Given the description of an element on the screen output the (x, y) to click on. 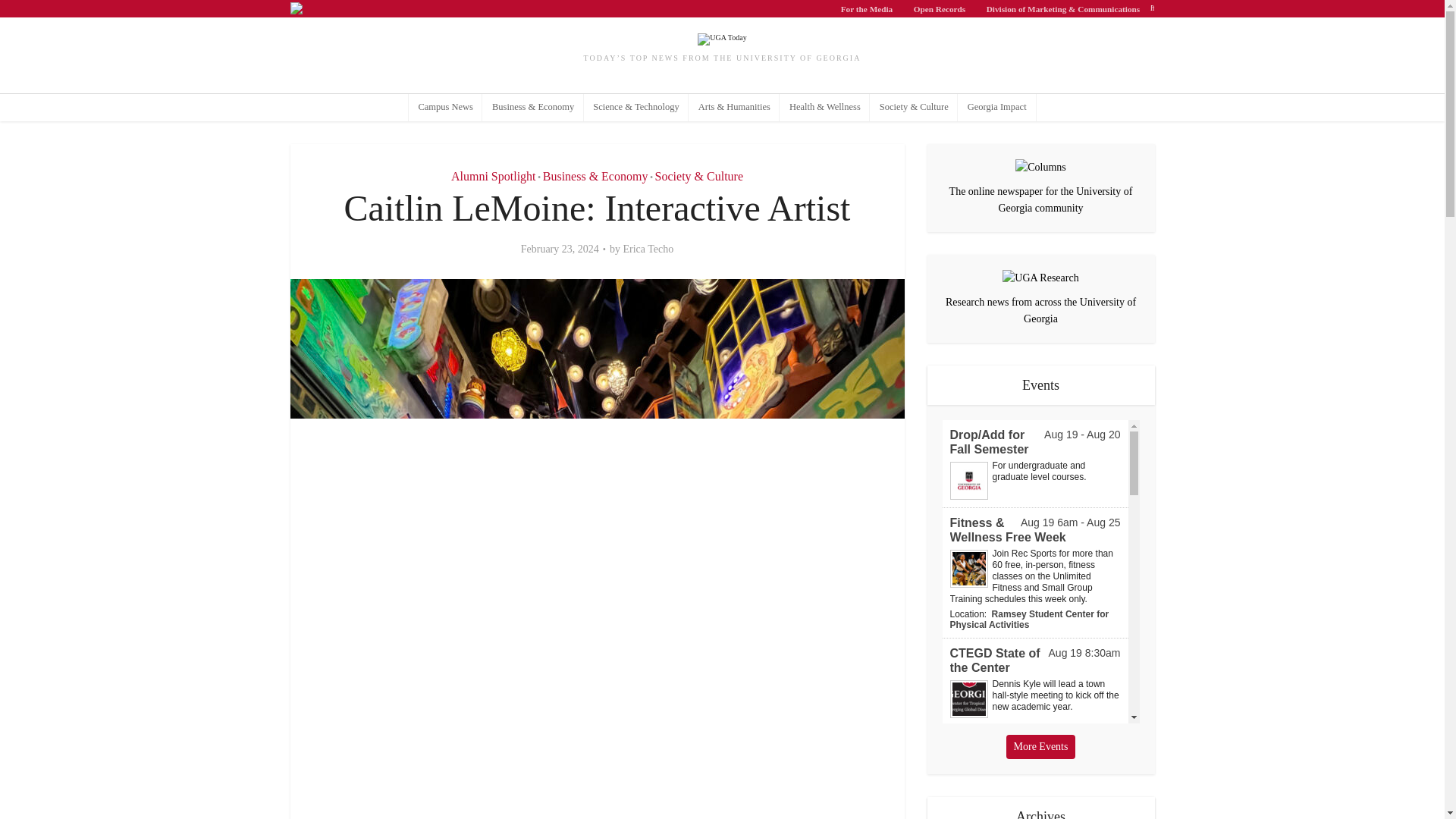
For the Media (866, 8)
Open Records (939, 8)
Alumni Spotlight (493, 175)
Erica Techo (647, 249)
Campus News (446, 107)
Georgia Impact (996, 107)
